Given the description of an element on the screen output the (x, y) to click on. 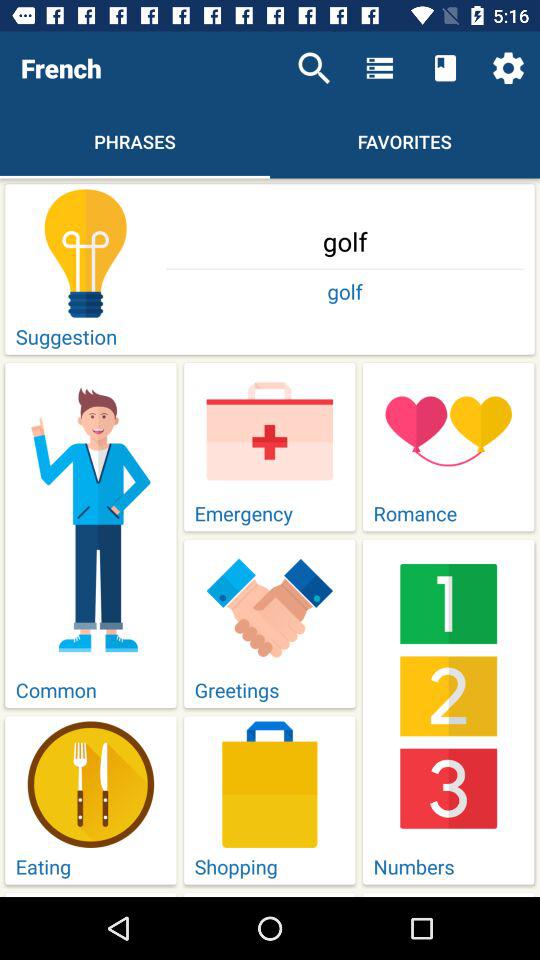
turn off icon above the golf (508, 67)
